Given the description of an element on the screen output the (x, y) to click on. 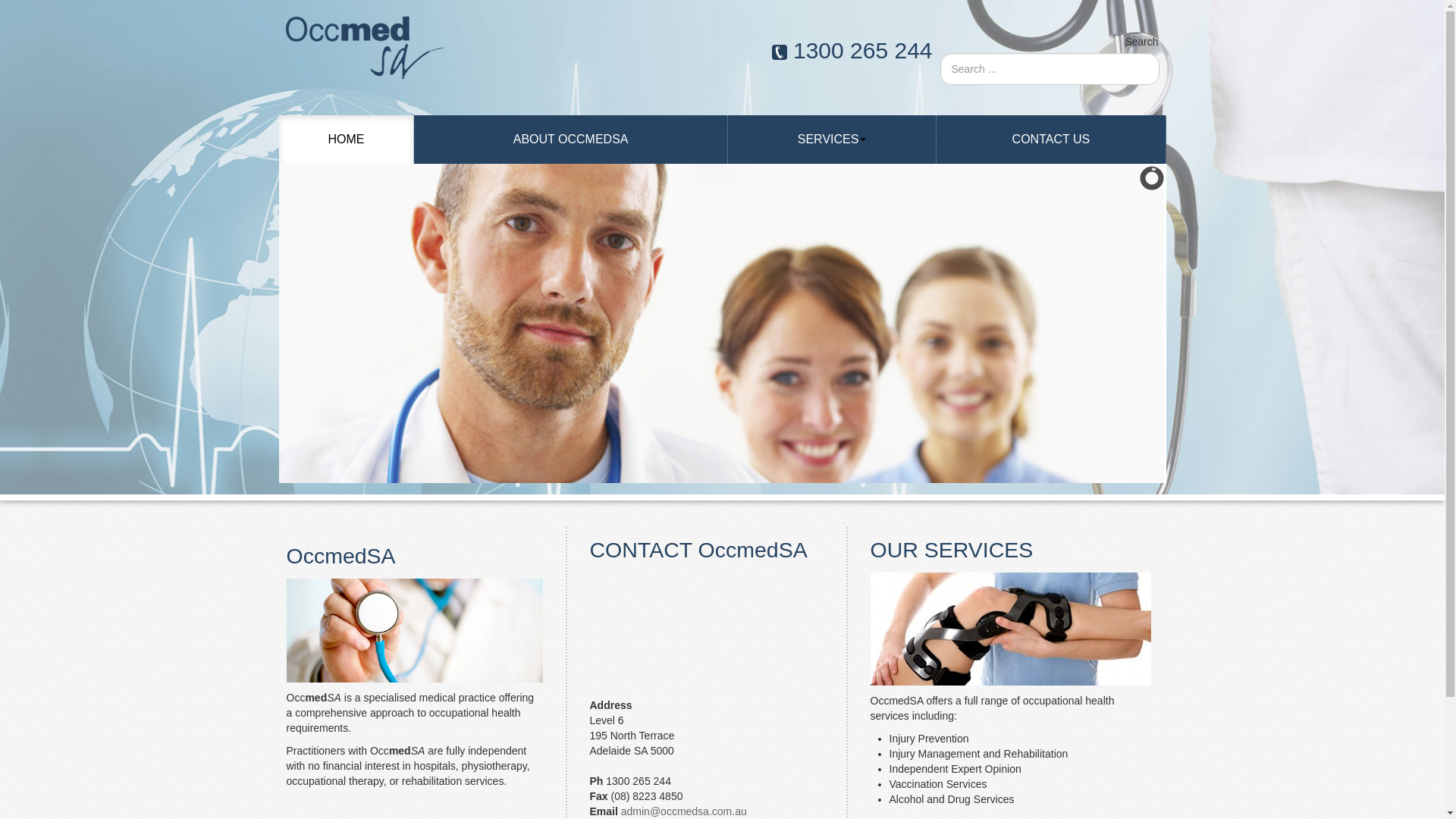
admin@occmedsa.com.au Element type: text (683, 811)
CONTACT US Element type: text (1050, 139)
SERVICES Element type: text (832, 139)
ABOUT OCCMEDSA Element type: text (571, 139)
HOME Element type: text (346, 139)
